Given the description of an element on the screen output the (x, y) to click on. 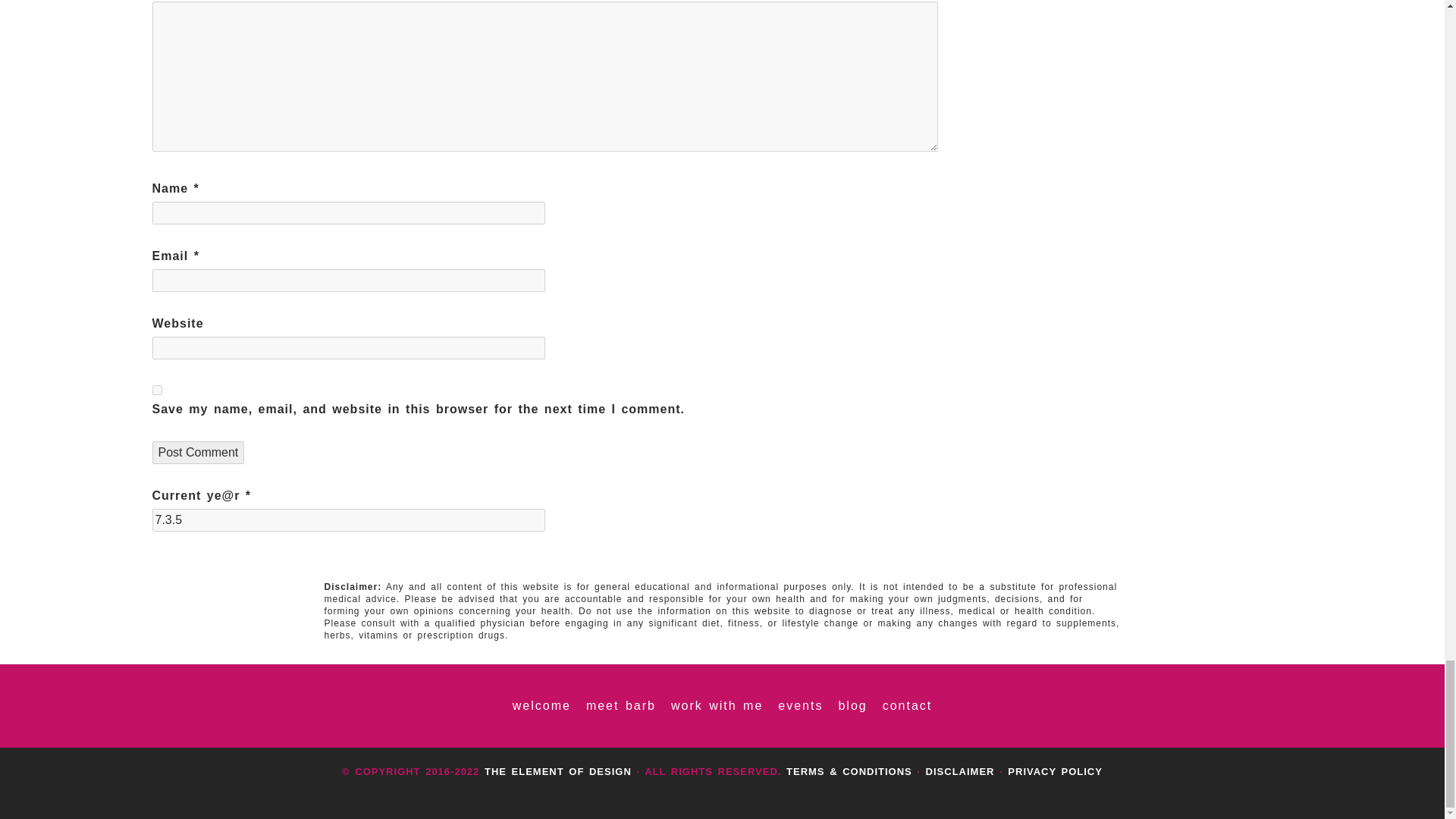
Post Comment (197, 452)
7.3.5 (347, 519)
yes (156, 389)
